Given the description of an element on the screen output the (x, y) to click on. 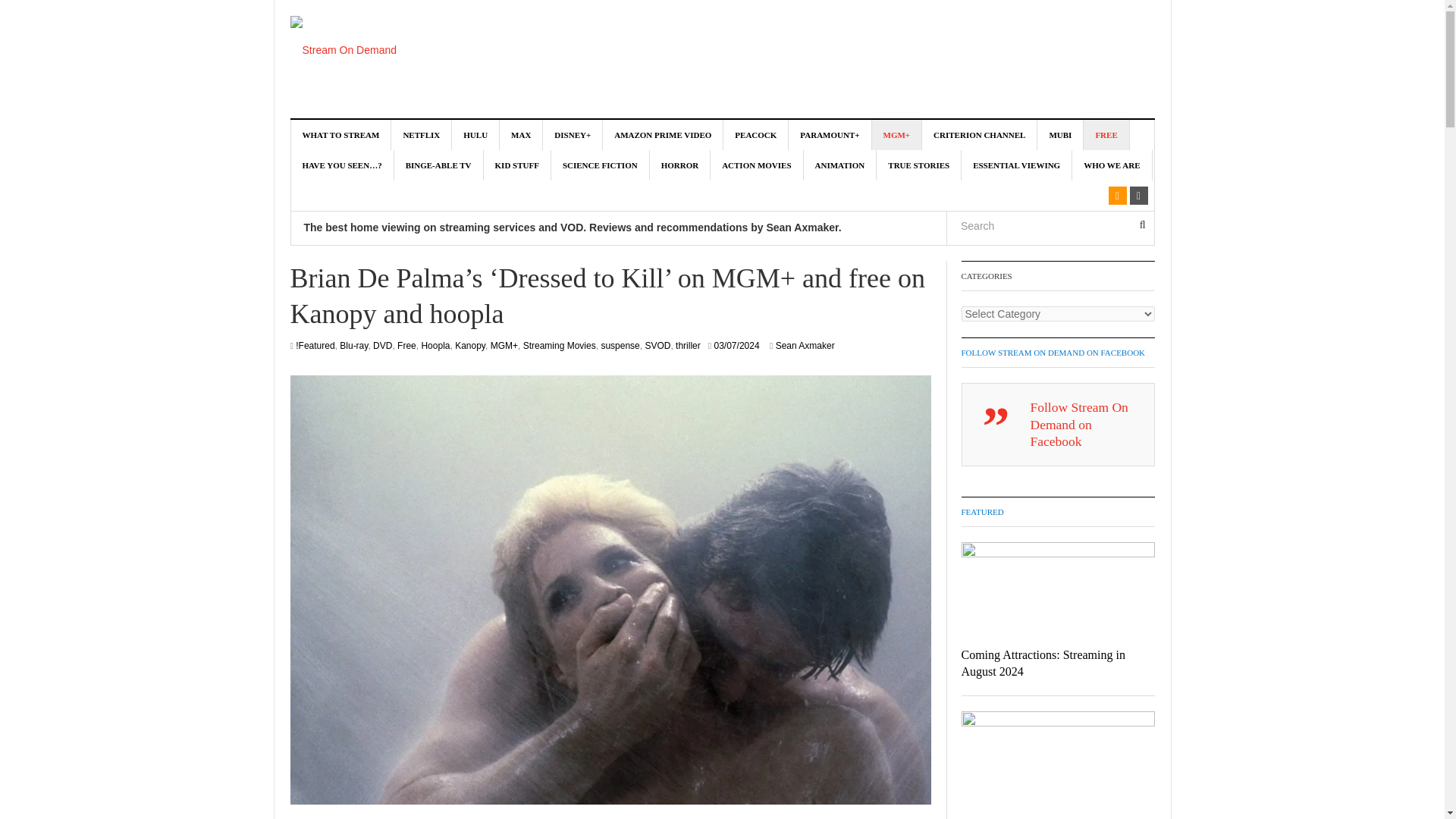
KID STUFF (517, 164)
NETFLIX (421, 134)
WHO WE ARE (1111, 164)
ANIMATION (840, 164)
!Featured (314, 345)
Blu-ray (353, 345)
WHAT TO STREAM (341, 134)
Hoopla (434, 345)
FREE (1106, 134)
HULU (475, 134)
MAX (521, 134)
Kanopy (469, 345)
PEACOCK (756, 134)
DVD (381, 345)
Free (406, 345)
